Given the description of an element on the screen output the (x, y) to click on. 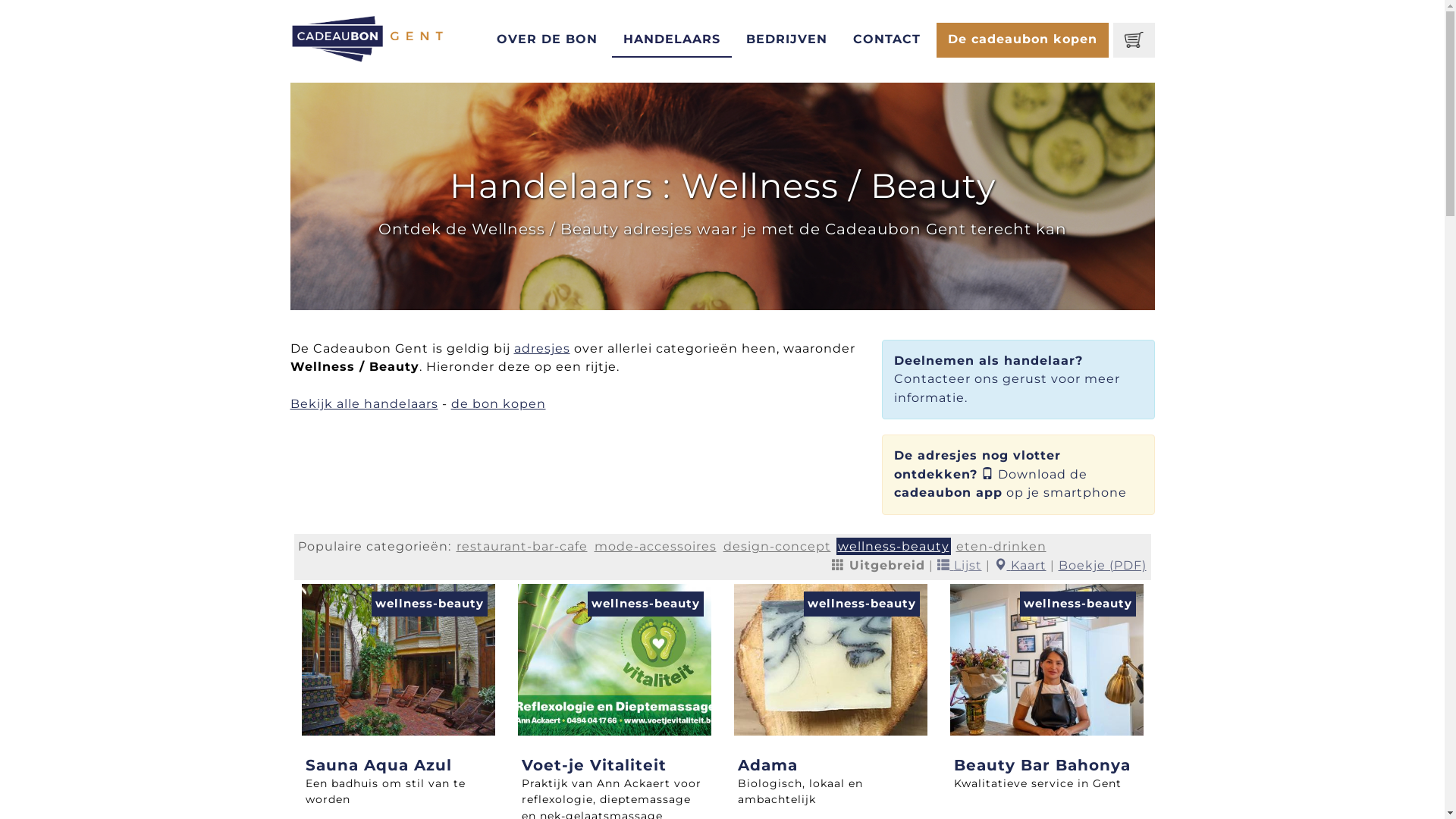
HANDELAARS Element type: text (671, 39)
Beauty Bar Bahonya Element type: text (1041, 765)
BEDRIJVEN Element type: text (786, 39)
adresjes Element type: text (542, 348)
Cadeaubon gent Element type: hover (367, 37)
eten-drinken Element type: text (1000, 546)
Boekje (PDF) Element type: text (1102, 565)
De cadeaubon kopen Element type: text (1022, 39)
OVER DE BON Element type: text (546, 39)
Kaart Element type: text (1019, 565)
restaurant-bar-cafe Element type: text (522, 546)
de bon kopen Element type: text (497, 403)
Sauna Aqua Azul Element type: text (377, 765)
Bekijk alle handelaars Element type: text (363, 403)
wellness-beauty Element type: text (892, 546)
mode-accessoires Element type: text (655, 546)
design-concept Element type: text (776, 546)
Winkelkarretje Element type: hover (1133, 39)
Adama Element type: text (767, 765)
Lijst Element type: text (959, 565)
Voet-je Vitaliteit Element type: text (593, 765)
CONTACT Element type: text (886, 39)
